Given the description of an element on the screen output the (x, y) to click on. 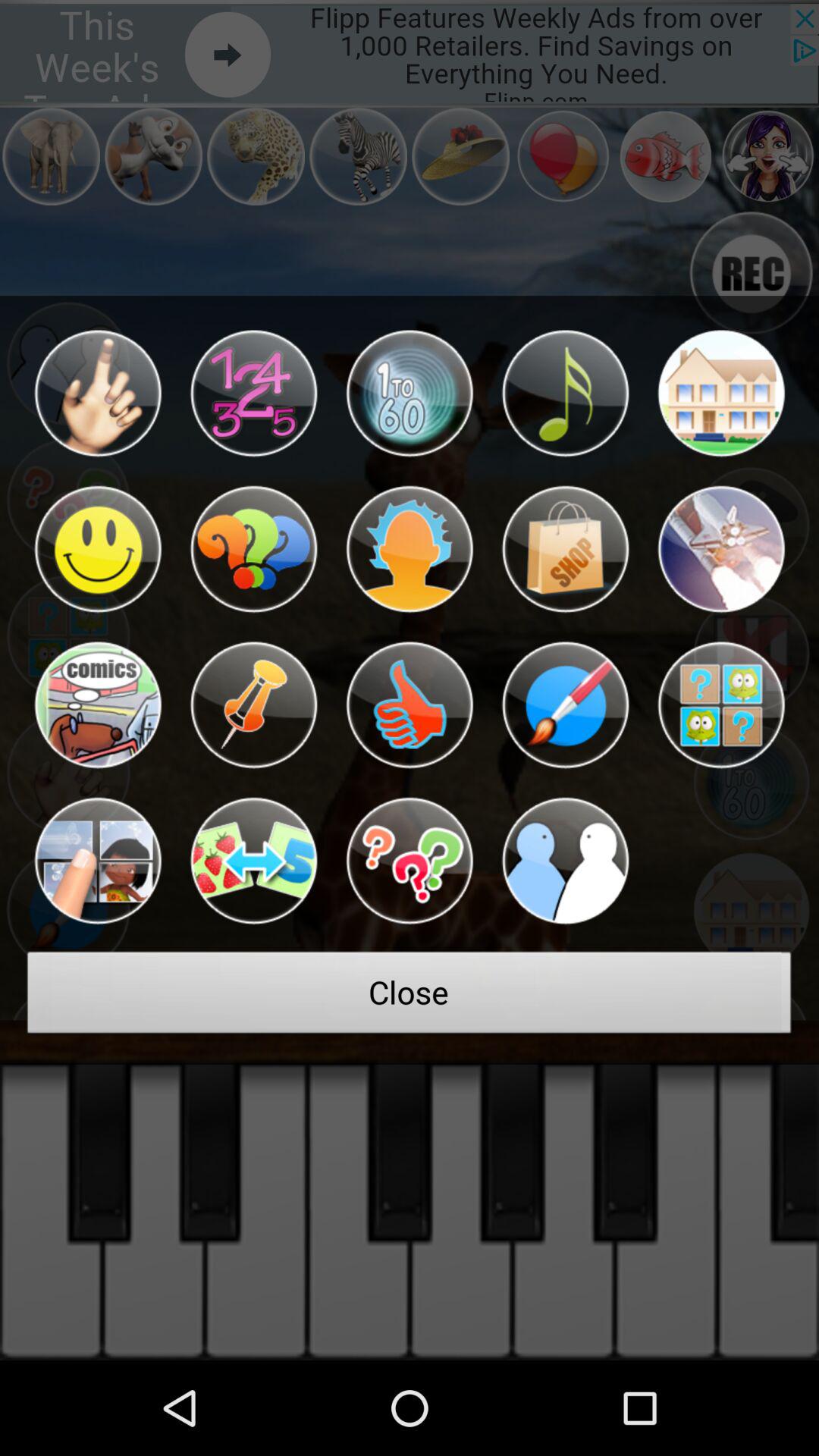
press the close item (409, 996)
